Given the description of an element on the screen output the (x, y) to click on. 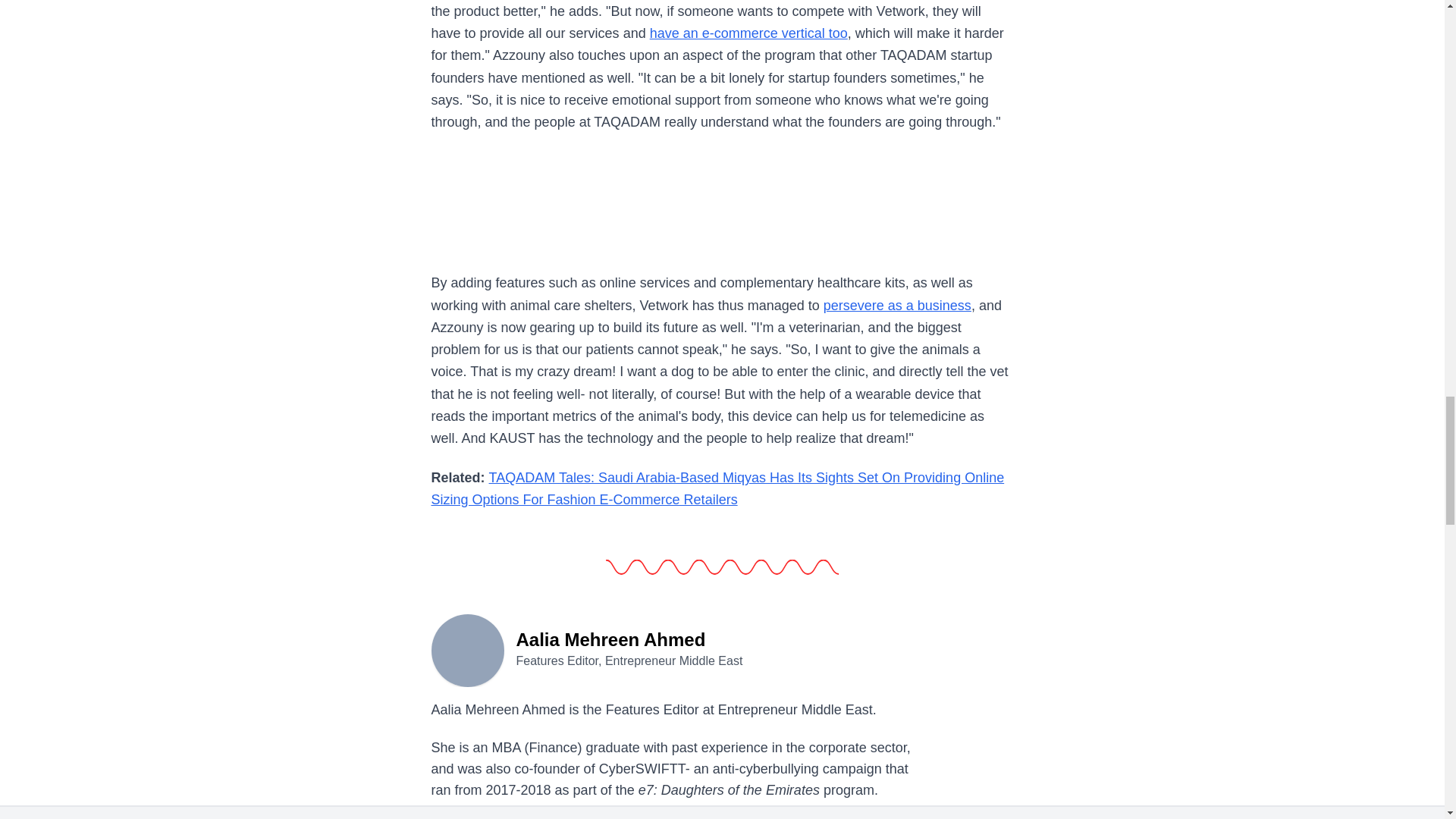
Aalia Mehreen Ahmed (466, 648)
